Given the description of an element on the screen output the (x, y) to click on. 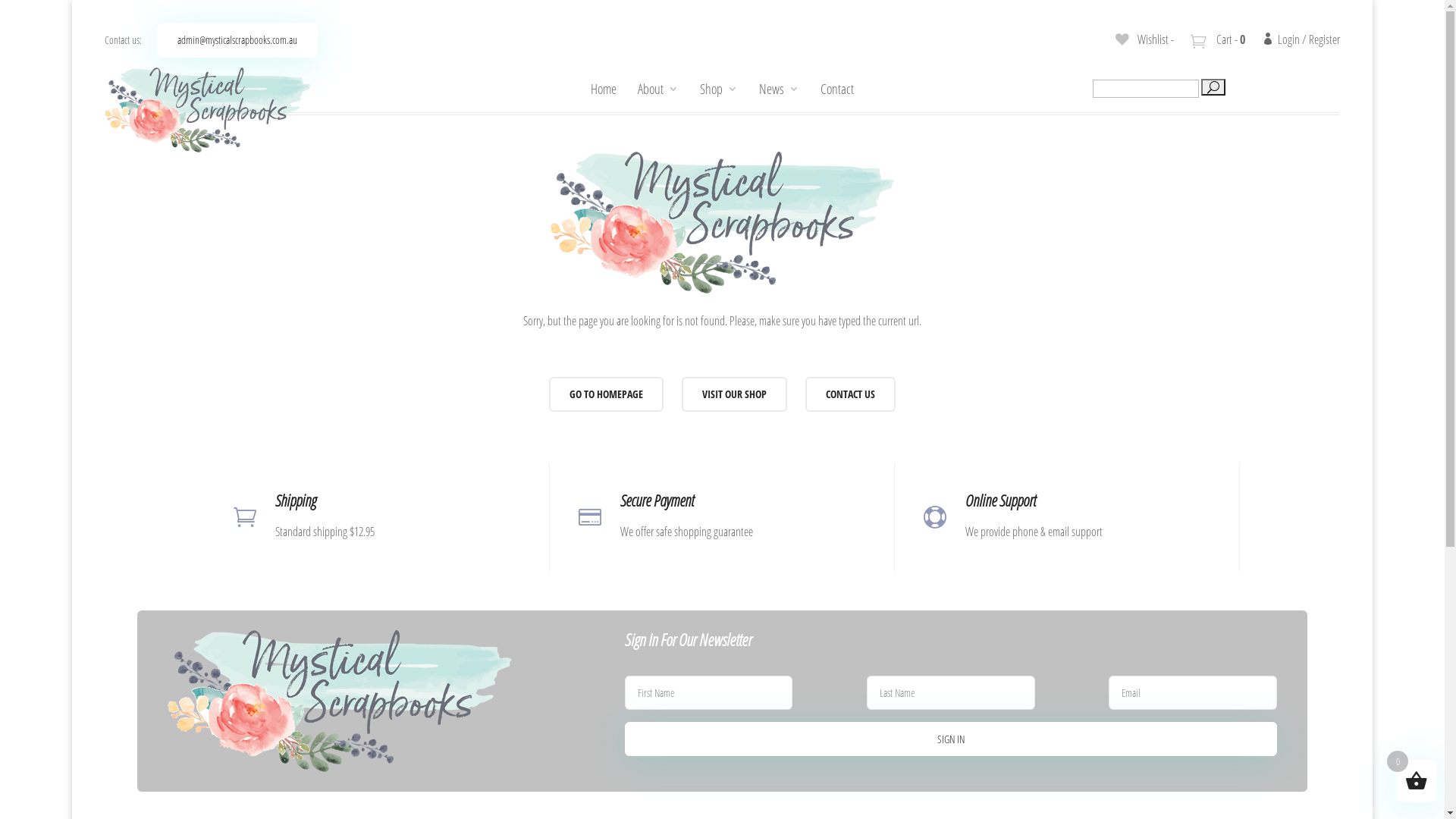
logo_top_original Element type: hover (721, 222)
Wishlist - Element type: text (1144, 39)
News Element type: text (779, 88)
Contact Element type: text (836, 88)
admin@mysticalscrapbooks.com.au Element type: text (236, 39)
Home Element type: text (603, 88)
U Element type: text (1213, 86)
Shop Element type: text (718, 88)
Cart - 0 Element type: text (1218, 39)
logo_top_original Element type: hover (339, 700)
SIGN IN Element type: text (950, 738)
VISIT OUR SHOP Element type: text (734, 393)
About Element type: text (657, 88)
logo_top_original Element type: hover (207, 109)
CONTACT US Element type: text (850, 393)
GO TO HOMEPAGE Element type: text (606, 393)
